Given the description of an element on the screen output the (x, y) to click on. 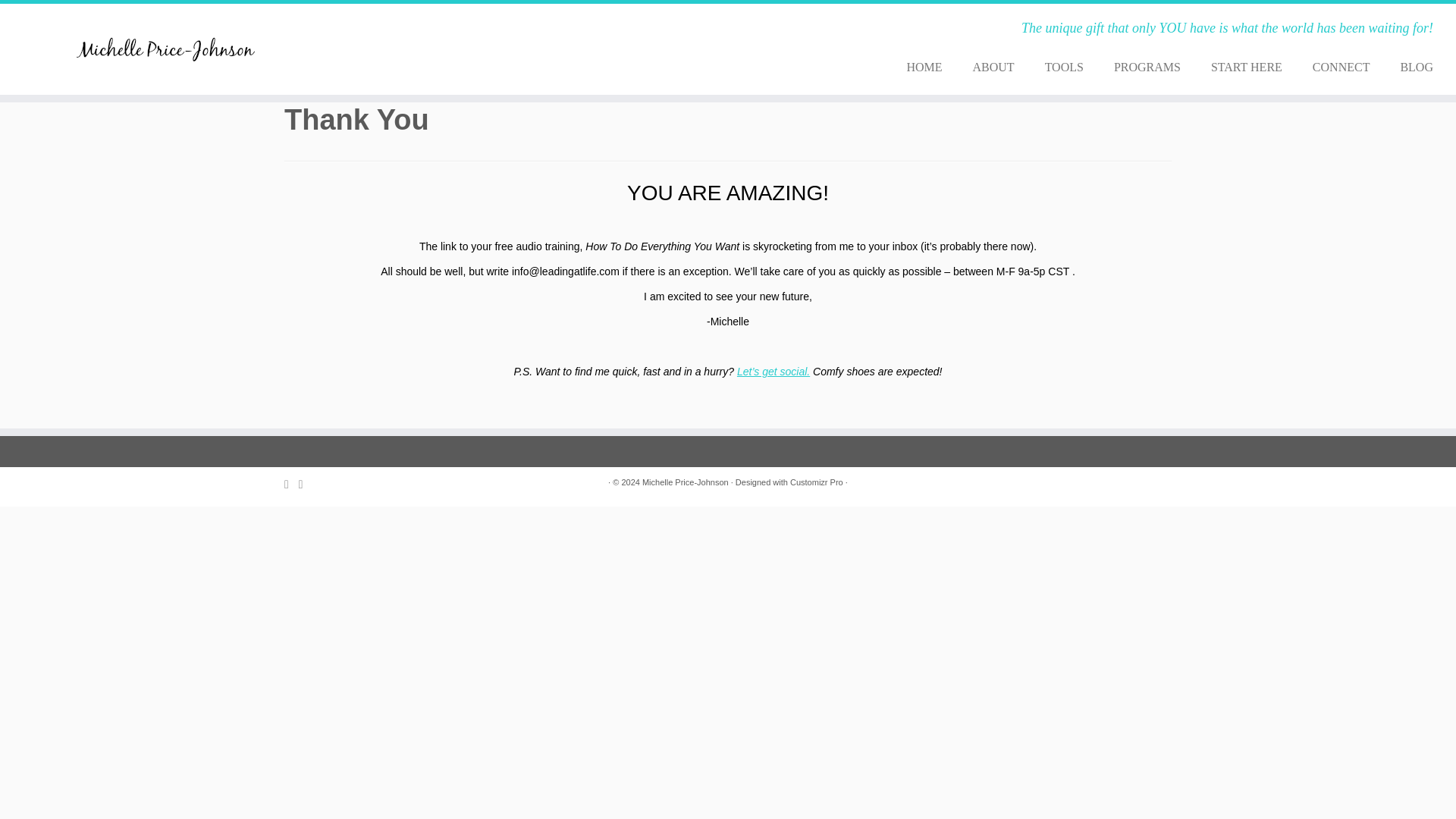
TOOLS (1064, 67)
START HERE (1246, 67)
PROGRAMS (1147, 67)
BLOG (1408, 67)
CONNECT (1341, 67)
ABOUT (993, 67)
HOME (923, 67)
